Given the description of an element on the screen output the (x, y) to click on. 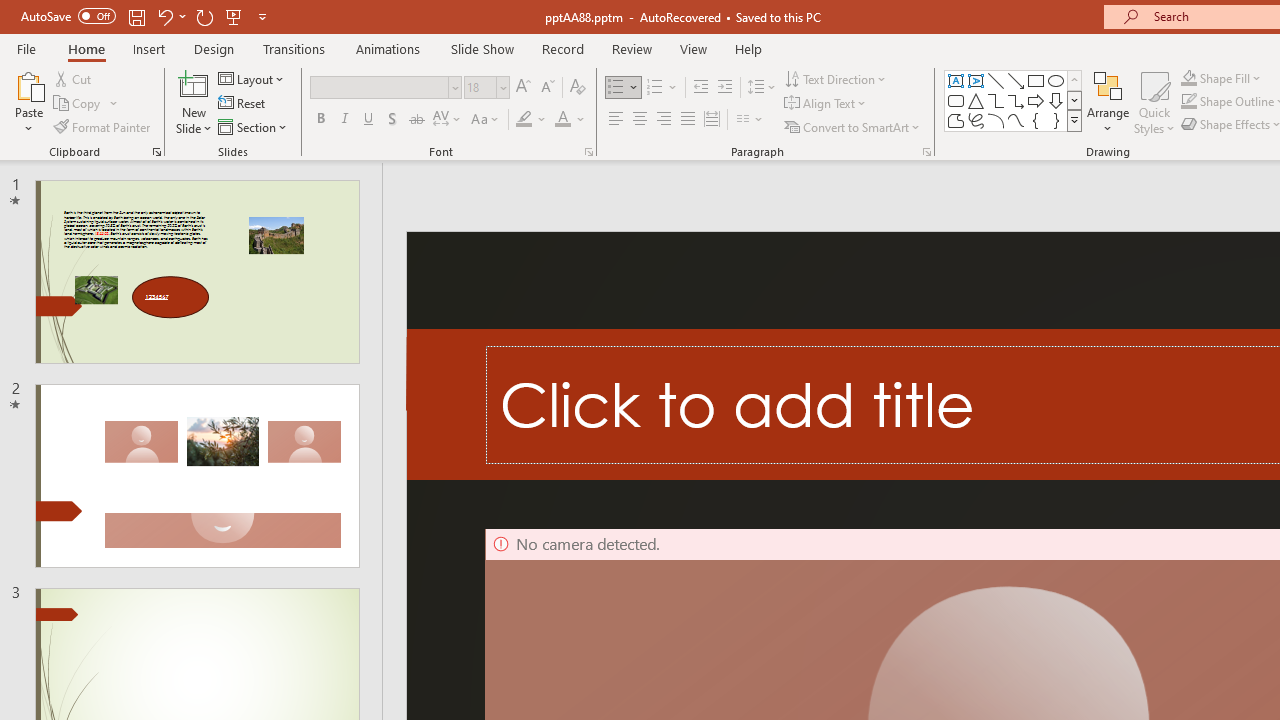
System (10, 11)
Align Right (663, 119)
Underline (369, 119)
Vertical Text Box (975, 80)
Freeform: Shape (955, 120)
Connector: Elbow Arrow (1016, 100)
Arc (995, 120)
Save (136, 15)
Text Highlight Color (531, 119)
Copy (78, 103)
Open (502, 87)
More Options (1232, 78)
Convert to SmartArt (853, 126)
Undo (164, 15)
Home (86, 48)
